Given the description of an element on the screen output the (x, y) to click on. 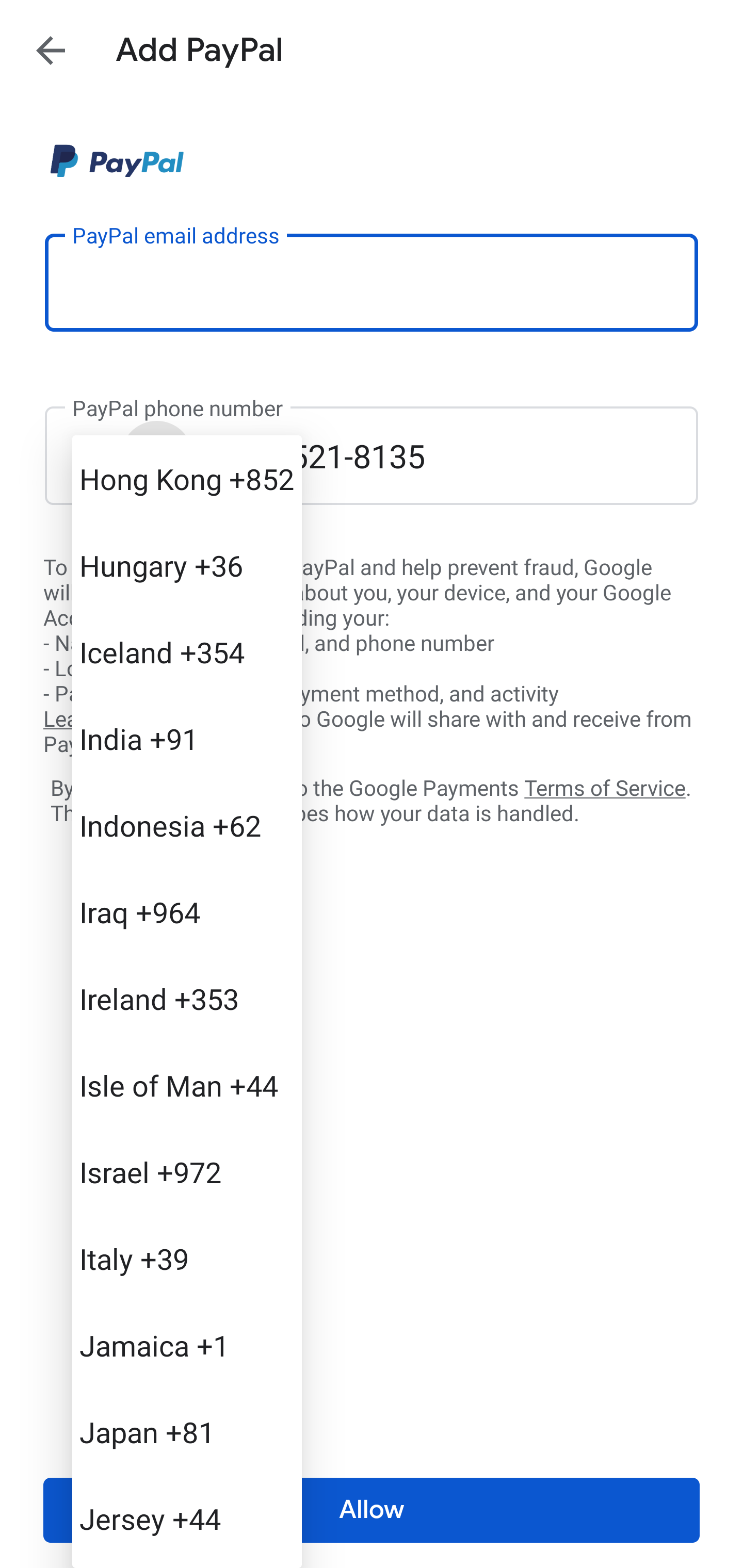
Hong Kong +852 (186, 478)
Hungary +36 (186, 565)
Iceland +354 (186, 651)
India +91 (186, 738)
Indonesia +62 (186, 825)
Iraq +964 (186, 911)
Ireland +353 (186, 997)
Isle of Man +44 (186, 1084)
Israel +972 (186, 1171)
Italy +39 (186, 1258)
Jamaica +1 (186, 1345)
Japan +81 (186, 1432)
Jersey +44 (186, 1518)
